Given the description of an element on the screen output the (x, y) to click on. 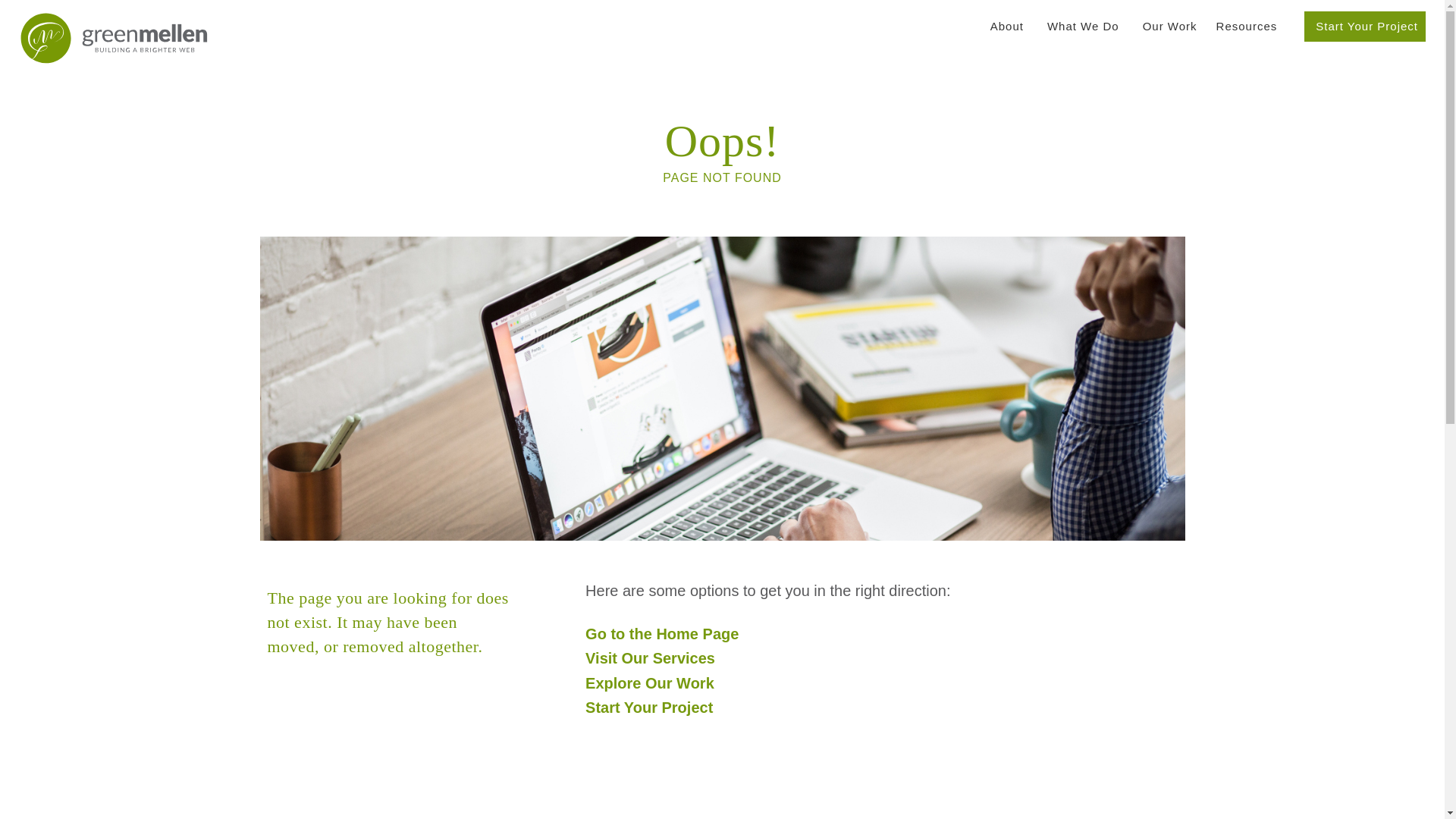
Resources (1247, 26)
What We Do (1083, 26)
Start Your Project (1364, 26)
About (1006, 26)
Our Work (1168, 26)
Explore Our Work (649, 682)
Visit Our Services (649, 658)
Go to the Home Page (661, 633)
Start Your Project (649, 707)
